Given the description of an element on the screen output the (x, y) to click on. 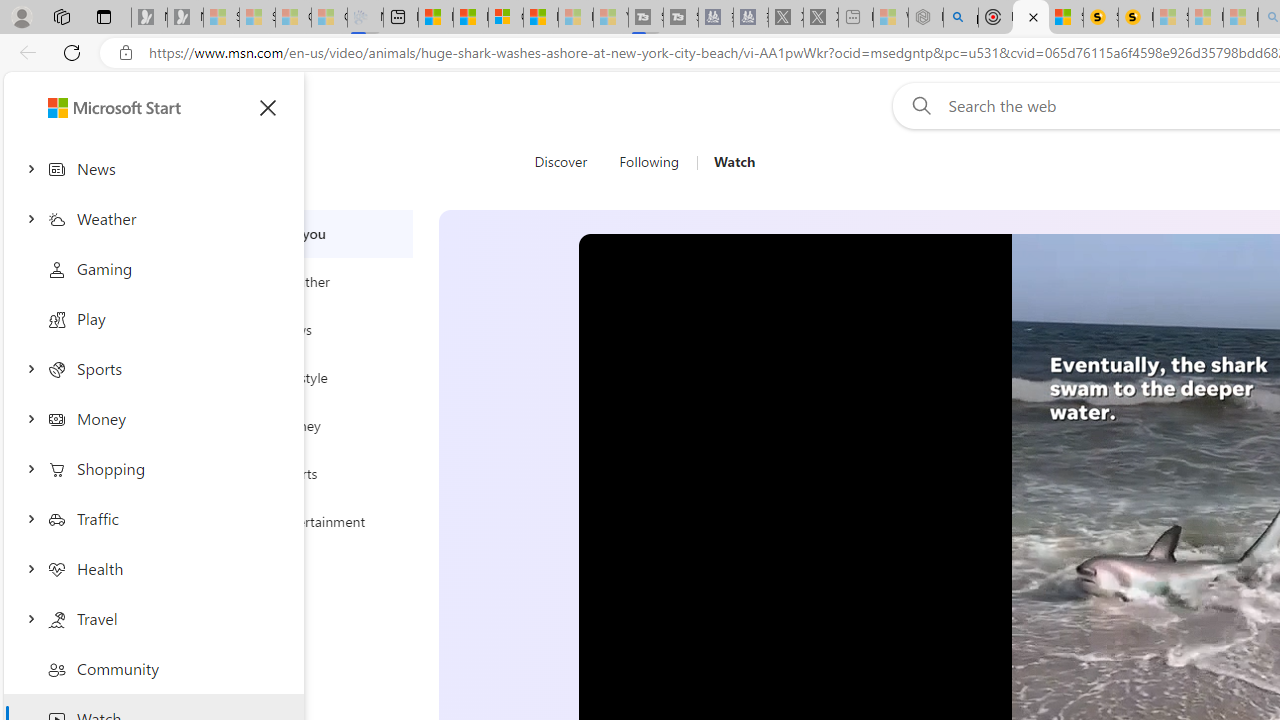
Huge shark washes ashore at New York City beach | Watch (1030, 17)
Microsoft Start (94, 105)
Skip to content (86, 105)
Skip to footer (82, 105)
Wildlife - MSN - Sleeping (890, 17)
Newsletter Sign Up - Sleeping (185, 17)
Following (649, 162)
